Given the description of an element on the screen output the (x, y) to click on. 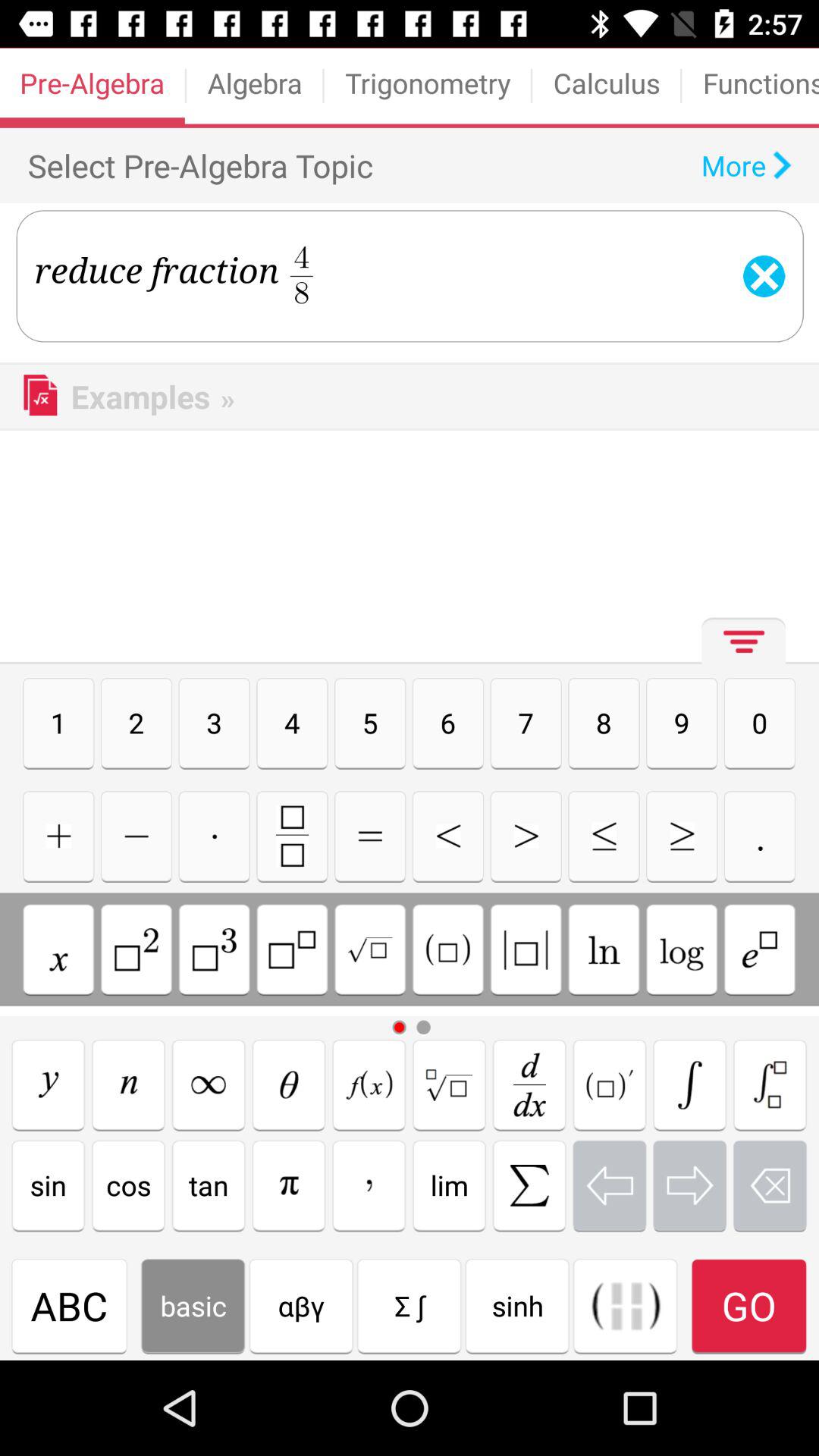
select option (214, 835)
